Given the description of an element on the screen output the (x, y) to click on. 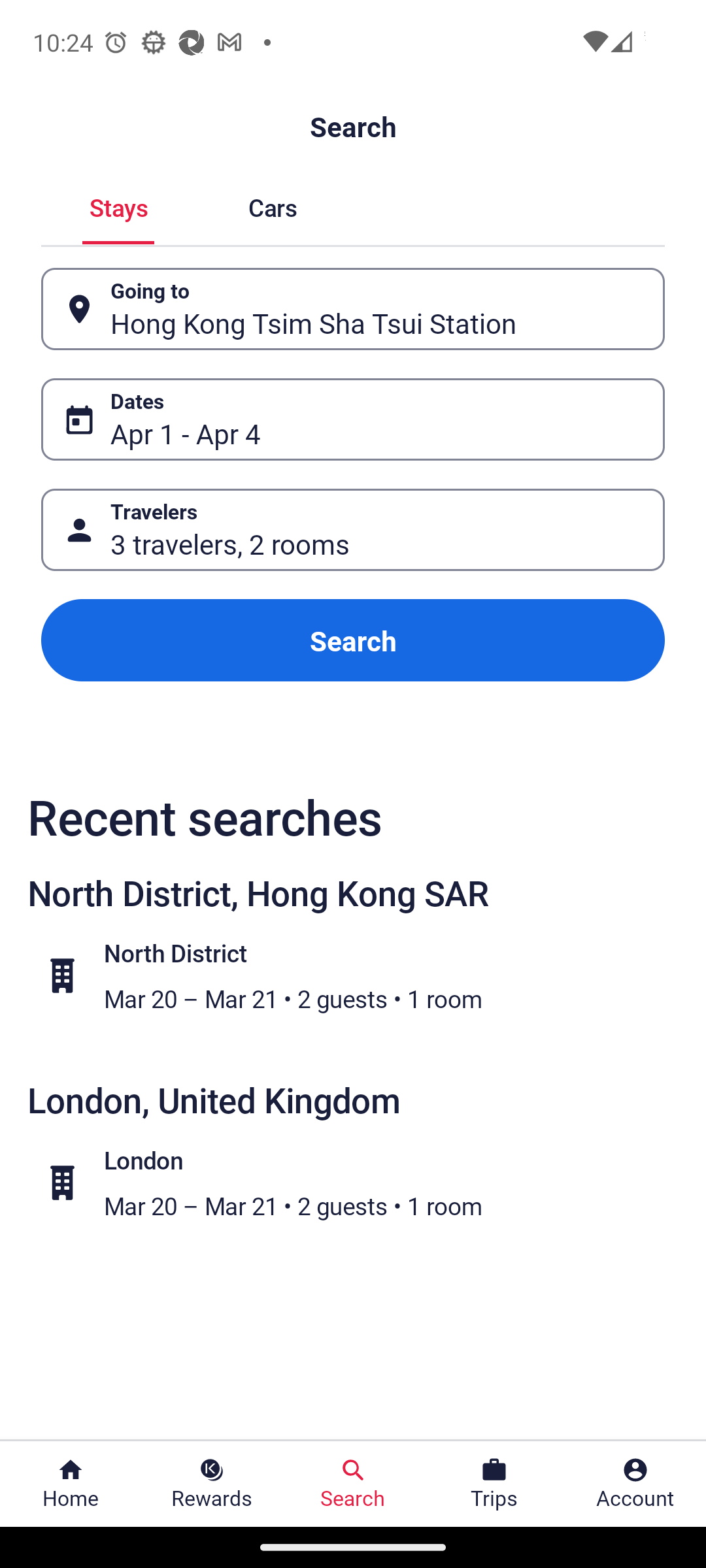
Cars (272, 205)
Going to Button Hong Kong Tsim Sha Tsui Station (352, 308)
Dates Button Apr 1 - Apr 4 (352, 418)
Travelers Button 3 travelers, 2 rooms (352, 529)
Search (352, 640)
North District Mar 20 – Mar 21 • 2 guests • 1 room (363, 974)
London Mar 20 – Mar 21 • 2 guests • 1 room (363, 1181)
Home Home Button (70, 1483)
Rewards Rewards Button (211, 1483)
Trips Trips Button (493, 1483)
Account Profile. Button (635, 1483)
